Given the description of an element on the screen output the (x, y) to click on. 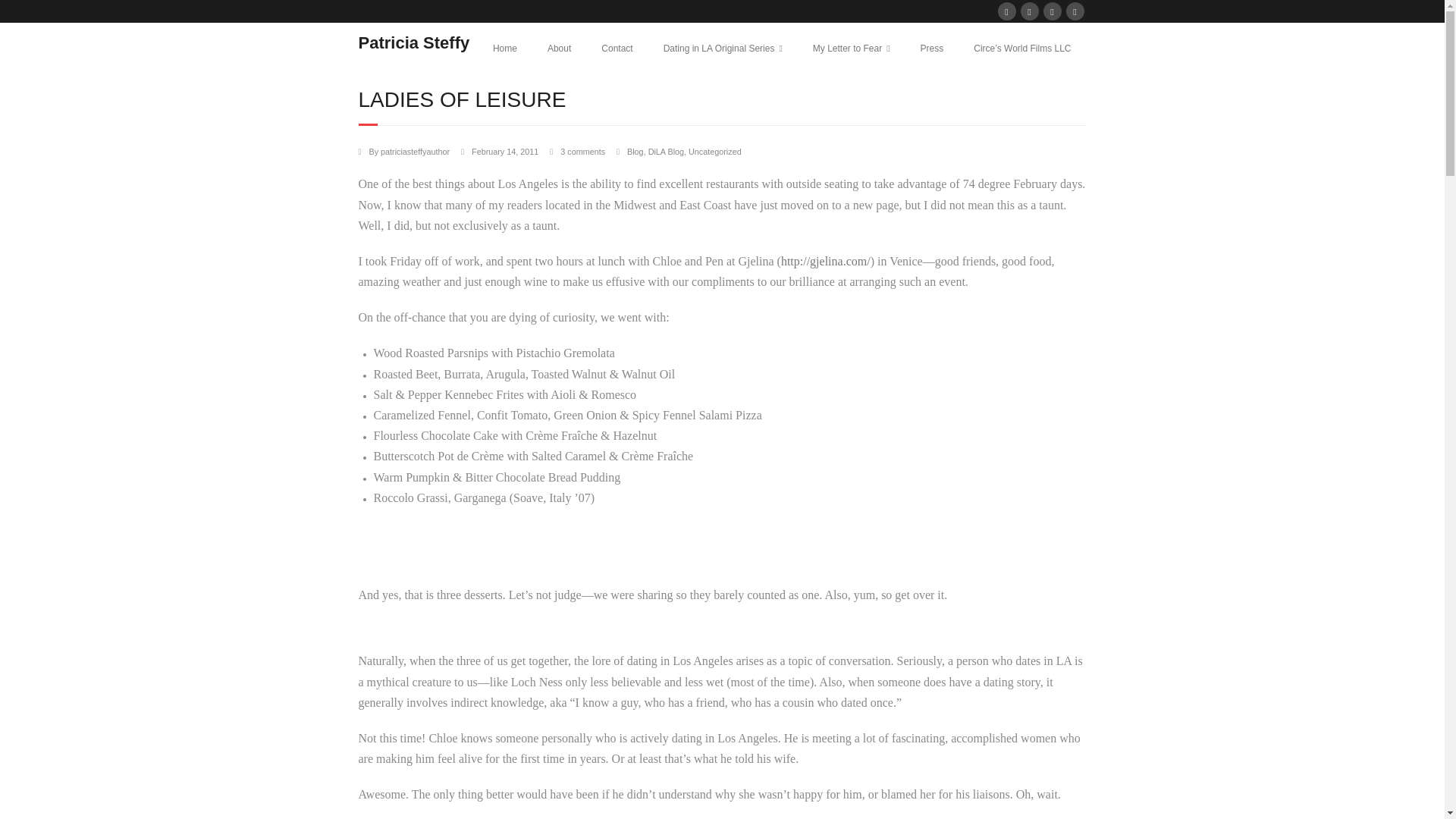
Patricia Steffy (413, 42)
patriciasteffyauthor (414, 151)
About (559, 48)
Contact (616, 48)
3 comments (582, 151)
February 14, 2011 (504, 151)
Ladies of Leisure (504, 151)
Uncategorized (714, 151)
DiLA Blog (665, 151)
Home (504, 48)
Press (932, 48)
Patricia Steffy (413, 42)
My Letter to Fear (851, 48)
View all posts by patriciasteffyauthor (414, 151)
Dating in LA Original Series (722, 48)
